Given the description of an element on the screen output the (x, y) to click on. 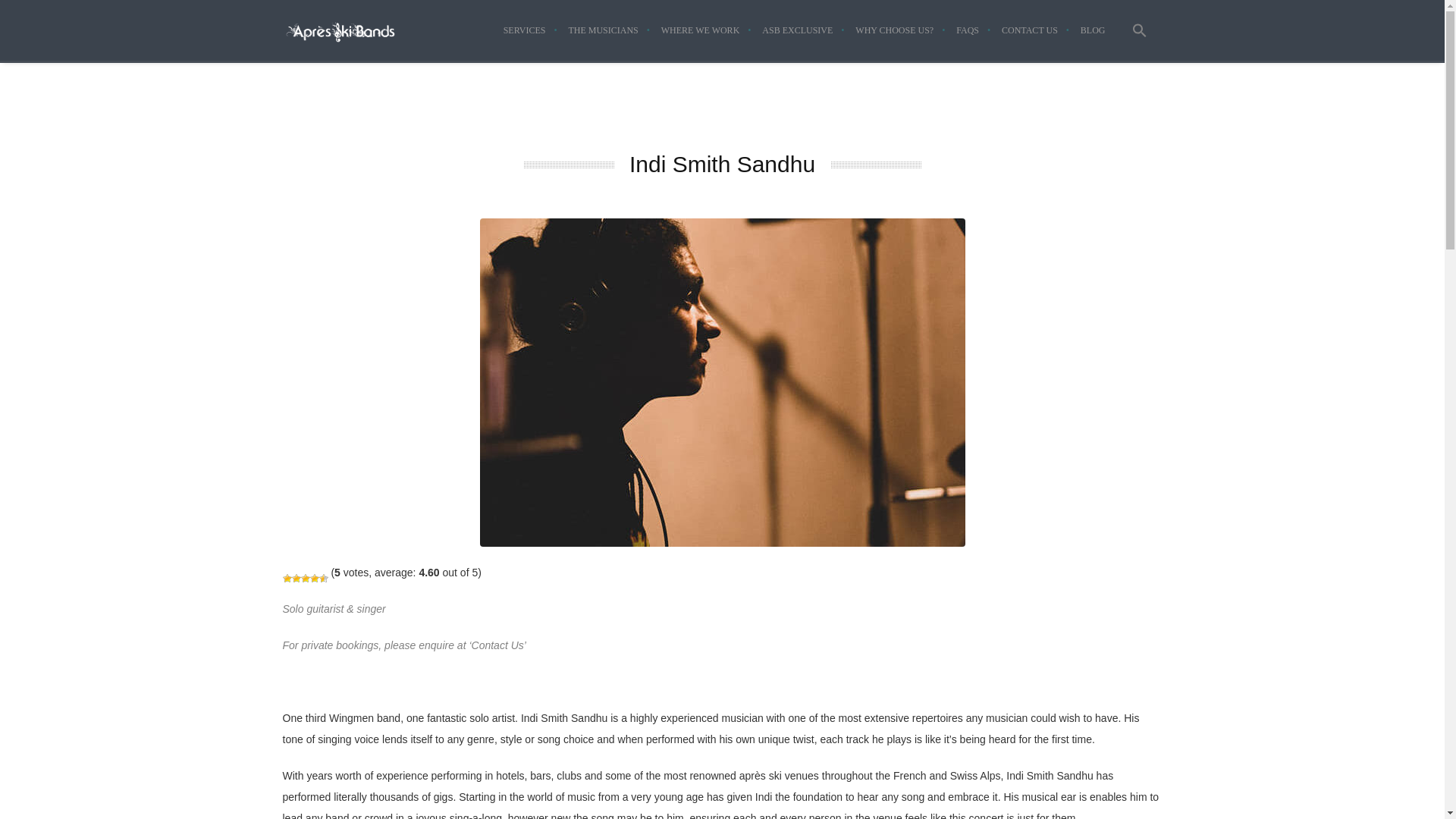
2 Stars (295, 578)
5 Stars (322, 578)
ASB EXCLUSIVE (797, 30)
SERVICES (524, 30)
3 Stars (303, 578)
1 Star (286, 578)
WHY CHOOSE US? (894, 30)
CONTACT US (1029, 30)
THE MUSICIANS (602, 30)
4 Stars (313, 578)
WHERE WE WORK (700, 30)
